Given the description of an element on the screen output the (x, y) to click on. 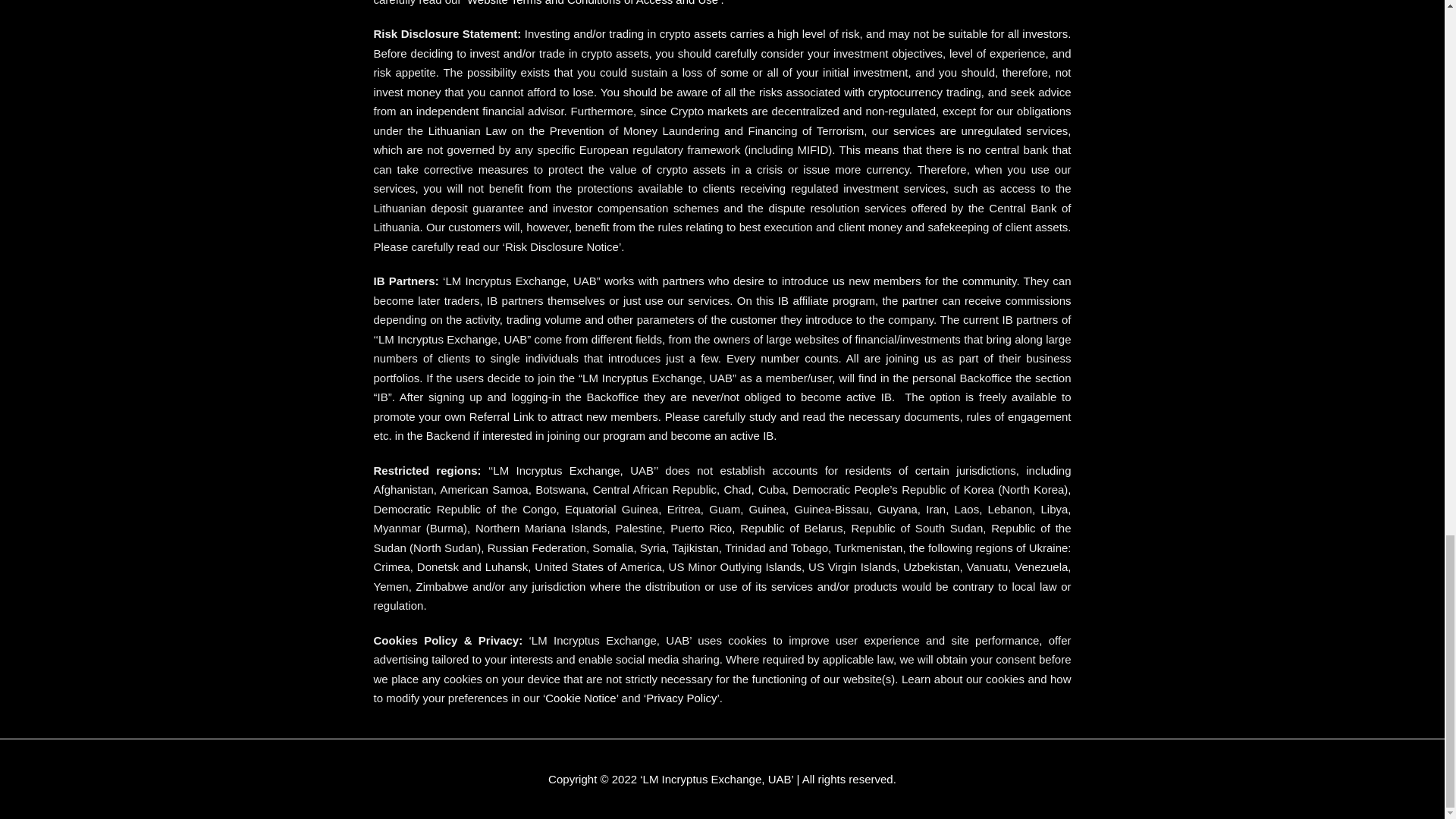
Website Terms and Conditions of Access and Use (592, 2)
Cookie Notice (579, 697)
Privacy Policy (681, 697)
